Given the description of an element on the screen output the (x, y) to click on. 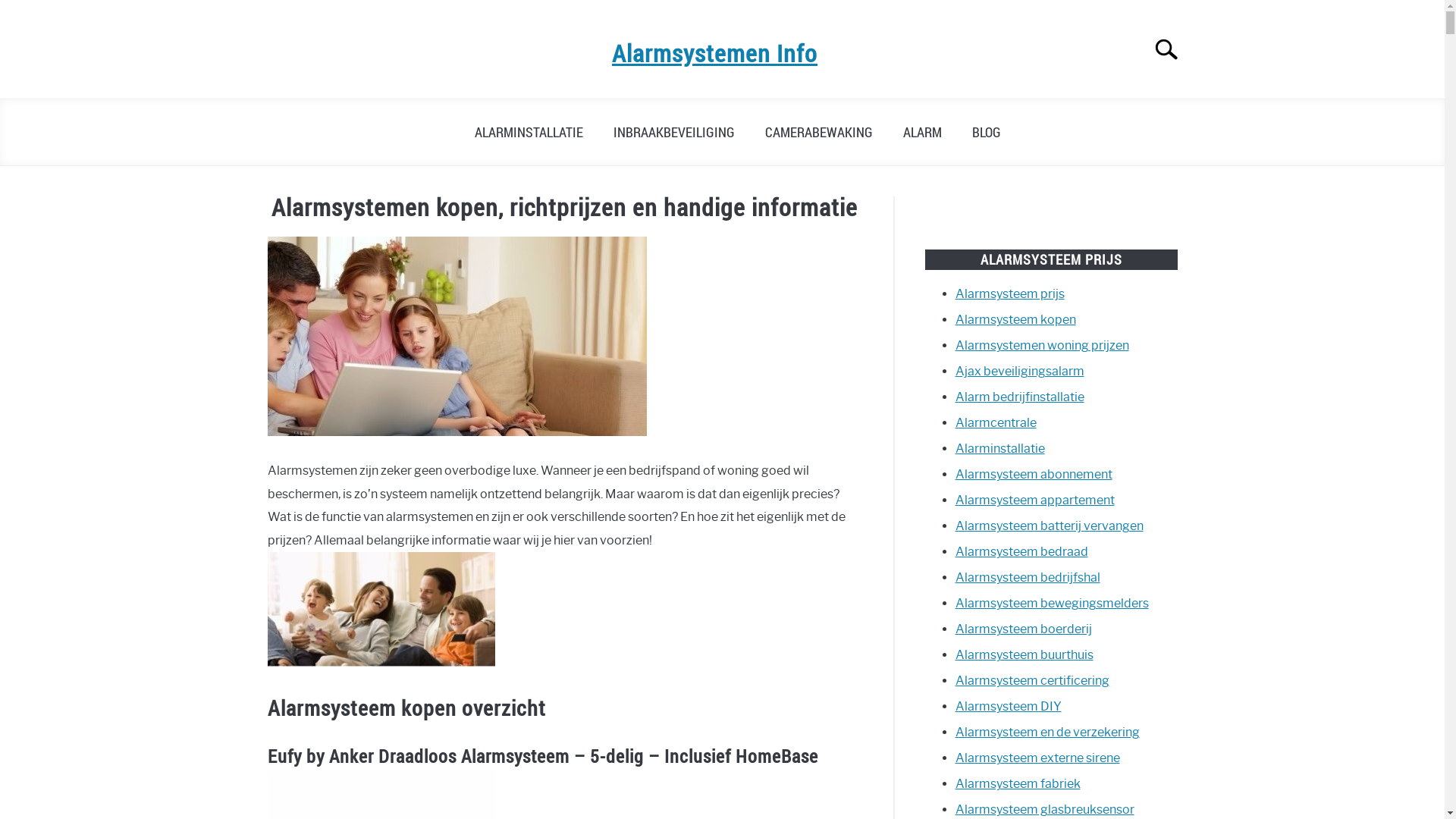
Alarmsysteem DIY Element type: text (1008, 706)
Alarmsysteem fabriek Element type: text (1017, 783)
Search Element type: text (1173, 48)
ALARM Element type: text (921, 132)
Alarmsysteem certificering Element type: text (1032, 680)
Ajax beveiligingsalarm Element type: text (1019, 371)
Alarmsysteem buurthuis Element type: text (1024, 654)
Alarmsysteem bewegingsmelders Element type: text (1051, 603)
Alarmsysteem abonnement Element type: text (1033, 474)
INBRAAKBEVEILIGING Element type: text (673, 132)
ALARMINSTALLATIE Element type: text (528, 132)
Alarmsysteem boerderij Element type: text (1023, 628)
BLOG Element type: text (986, 132)
Alarmsysteem externe sirene Element type: text (1037, 757)
Alarmsysteem bedrijfshal Element type: text (1027, 577)
Alarmcentrale Element type: text (995, 422)
CAMERABEWAKING Element type: text (818, 132)
Alarmsysteem kopen Element type: text (1015, 319)
Alarmsysteem glasbreuksensor Element type: text (1044, 809)
Alarmsystemen woning prijzen Element type: text (1042, 345)
Alarm bedrijfinstallatie Element type: text (1019, 396)
Alarmsysteem appartement Element type: text (1034, 499)
Alarminstallatie Element type: text (999, 448)
Alarmsysteem en de verzekering Element type: text (1047, 731)
Alarmsysteem batterij vervangen Element type: text (1049, 525)
Alarmsysteem prijs Element type: text (1009, 293)
Alarmsysteem bedraad Element type: text (1021, 551)
Alarmsystemen Info Element type: text (714, 52)
